Given the description of an element on the screen output the (x, y) to click on. 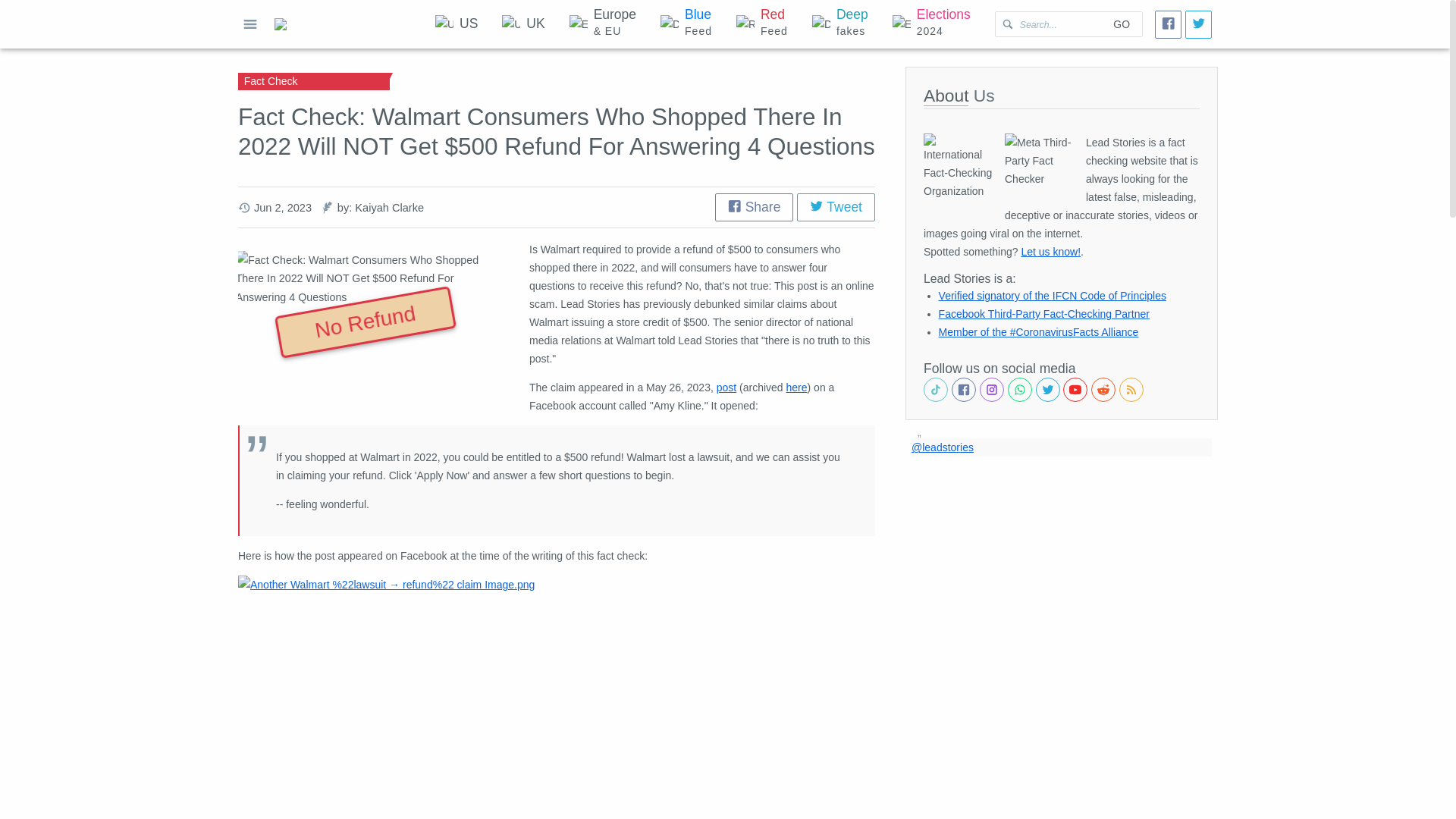
post (726, 387)
Let us know! (685, 24)
US (839, 24)
Verified signatory of the IFCN Code of Principles (1050, 251)
Tweet (931, 24)
Share (456, 24)
GO (1052, 295)
UK (835, 207)
here (753, 207)
OPEN FULL MENU (1120, 24)
Facebook Third-Party Fact-Checking Partner (522, 24)
